Given the description of an element on the screen output the (x, y) to click on. 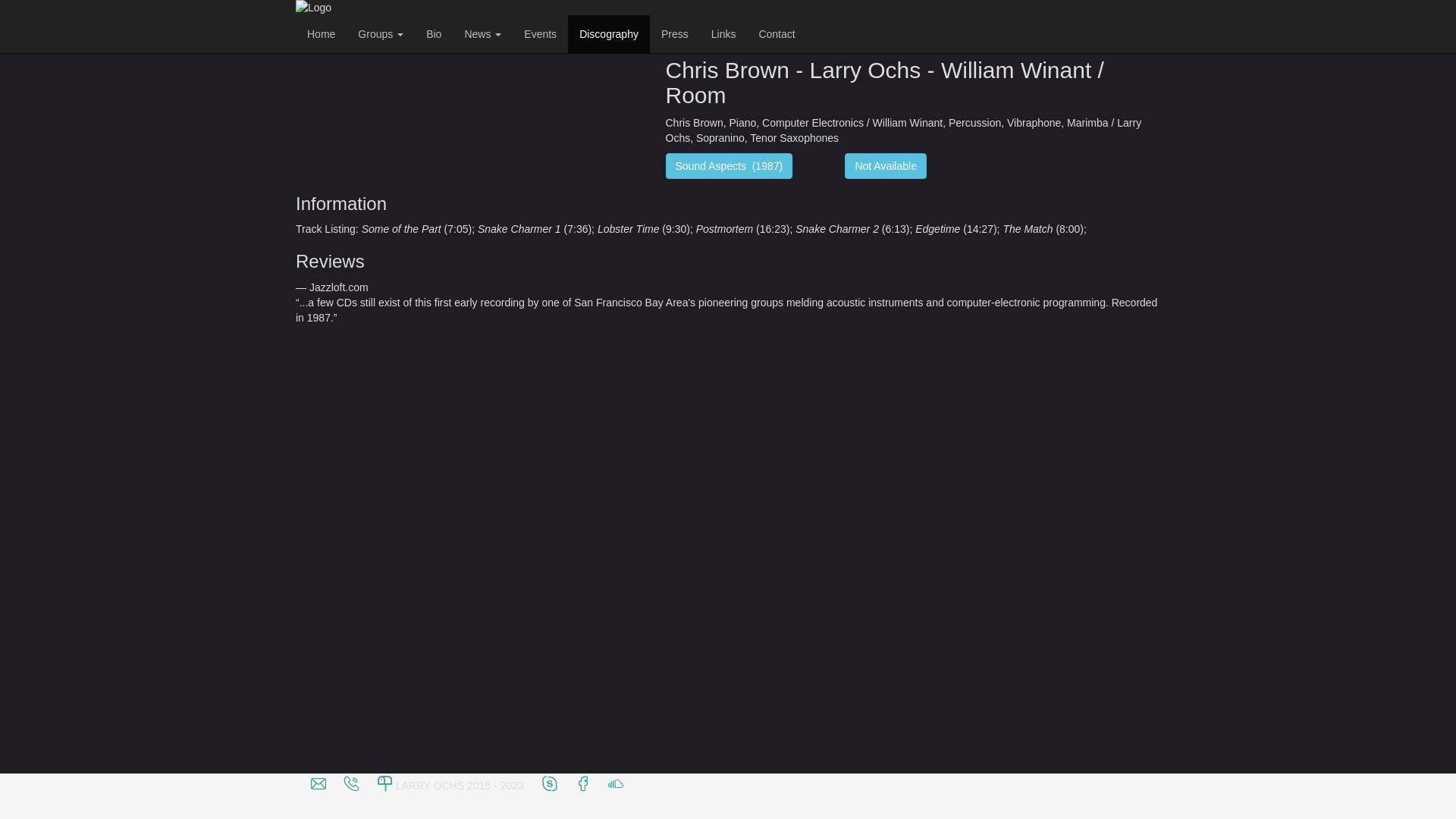
Discography Element type: text (608, 34)
Groups Element type: text (380, 34)
Links Element type: text (723, 34)
News Element type: text (482, 34)
Home Element type: text (320, 34)
Events Element type: text (539, 34)
Bio Element type: text (433, 34)
Sound Aspects  (1987) Element type: text (729, 165)
Press Element type: text (674, 34)
Not Available Element type: text (884, 165)
Contact Element type: text (776, 34)
Home Element type: text (321, 13)
Discography Element type: text (377, 13)
